Given the description of an element on the screen output the (x, y) to click on. 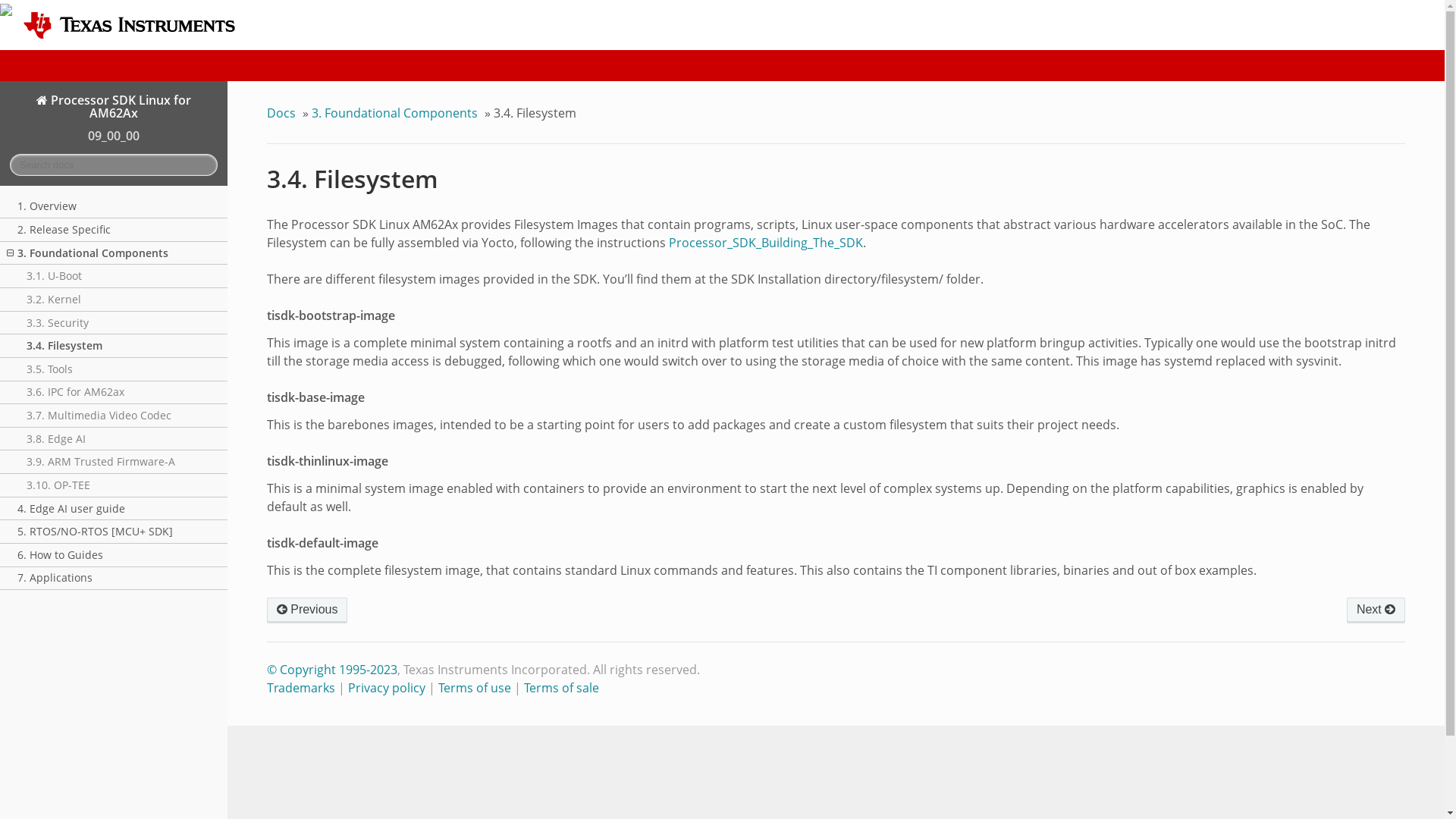
3.9. ARM Trusted Firmware-A (113, 462)
3. Foundational Components (113, 253)
3.8. Edge AI (113, 439)
6. How to Guides (113, 555)
3.5. Tools (1375, 610)
3.6. IPC for AM62ax (113, 392)
Terms of sale (561, 687)
3.3.1. GP to HS-FS Migration Guide (306, 610)
3.2. Kernel (113, 300)
Terms of use (474, 687)
